Given the description of an element on the screen output the (x, y) to click on. 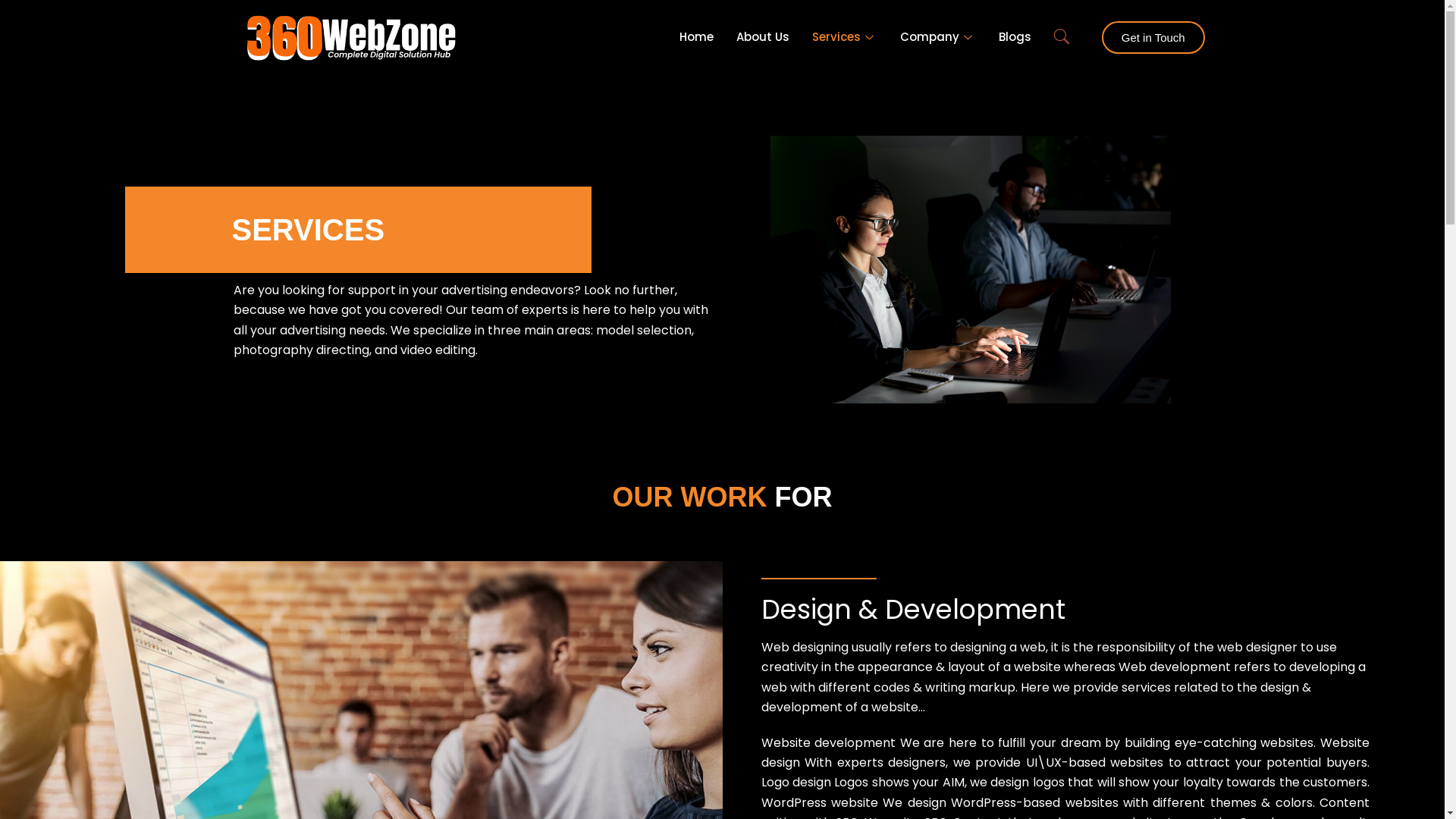
Company Element type: text (937, 37)
Blogs Element type: text (1014, 37)
Services Element type: text (844, 37)
About Us Element type: text (762, 37)
Home Element type: text (696, 37)
Get in Touch Element type: text (1152, 37)
